Given the description of an element on the screen output the (x, y) to click on. 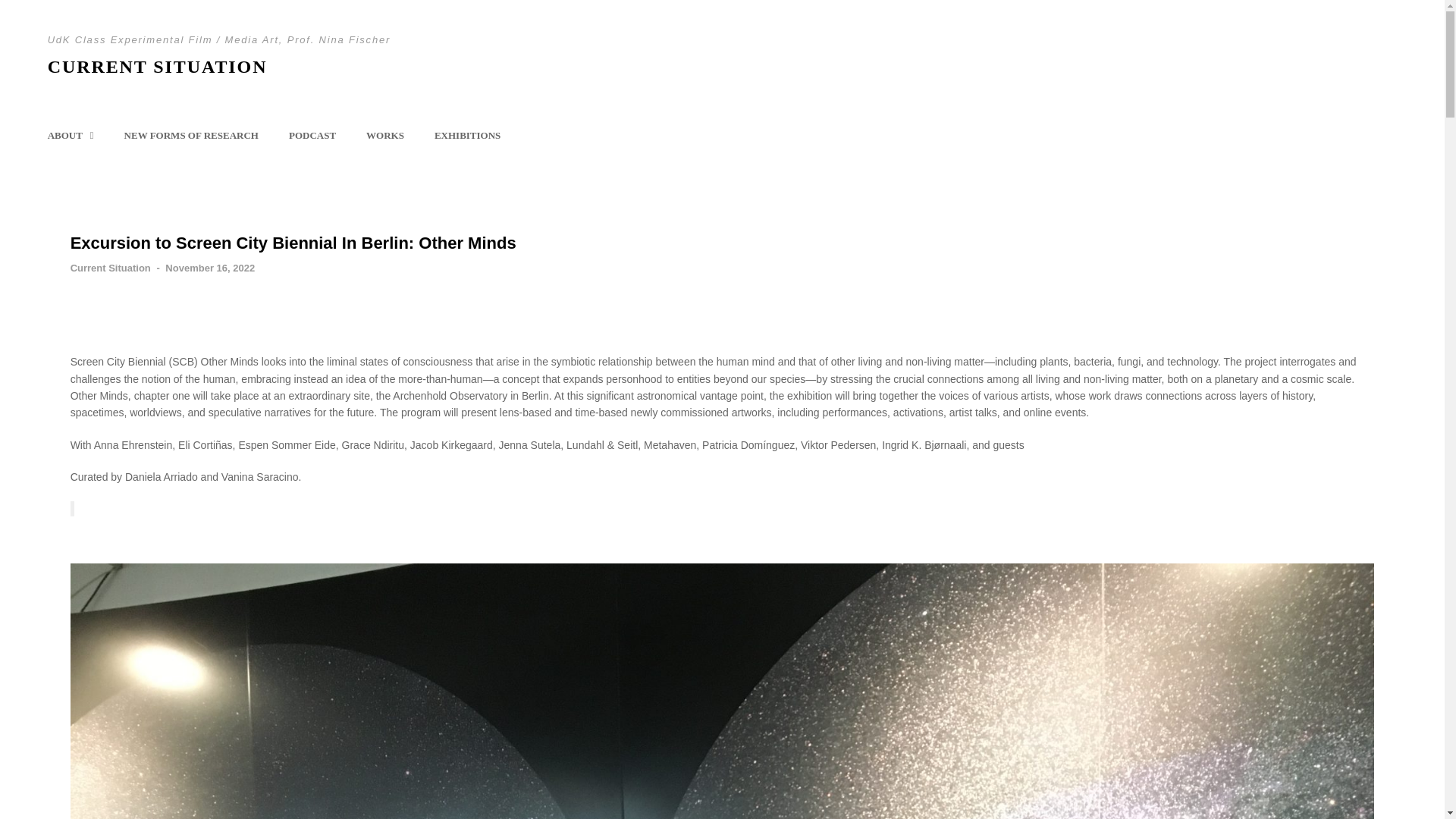
Works (384, 135)
ABOUT (70, 135)
WORKS (384, 135)
CURRENT SITUATION (157, 66)
EXHIBITIONS (467, 135)
PODCAST (311, 135)
Podcast (311, 135)
NEW FORMS OF RESEARCH (191, 135)
About (70, 135)
New Forms of Research (191, 135)
